Given the description of an element on the screen output the (x, y) to click on. 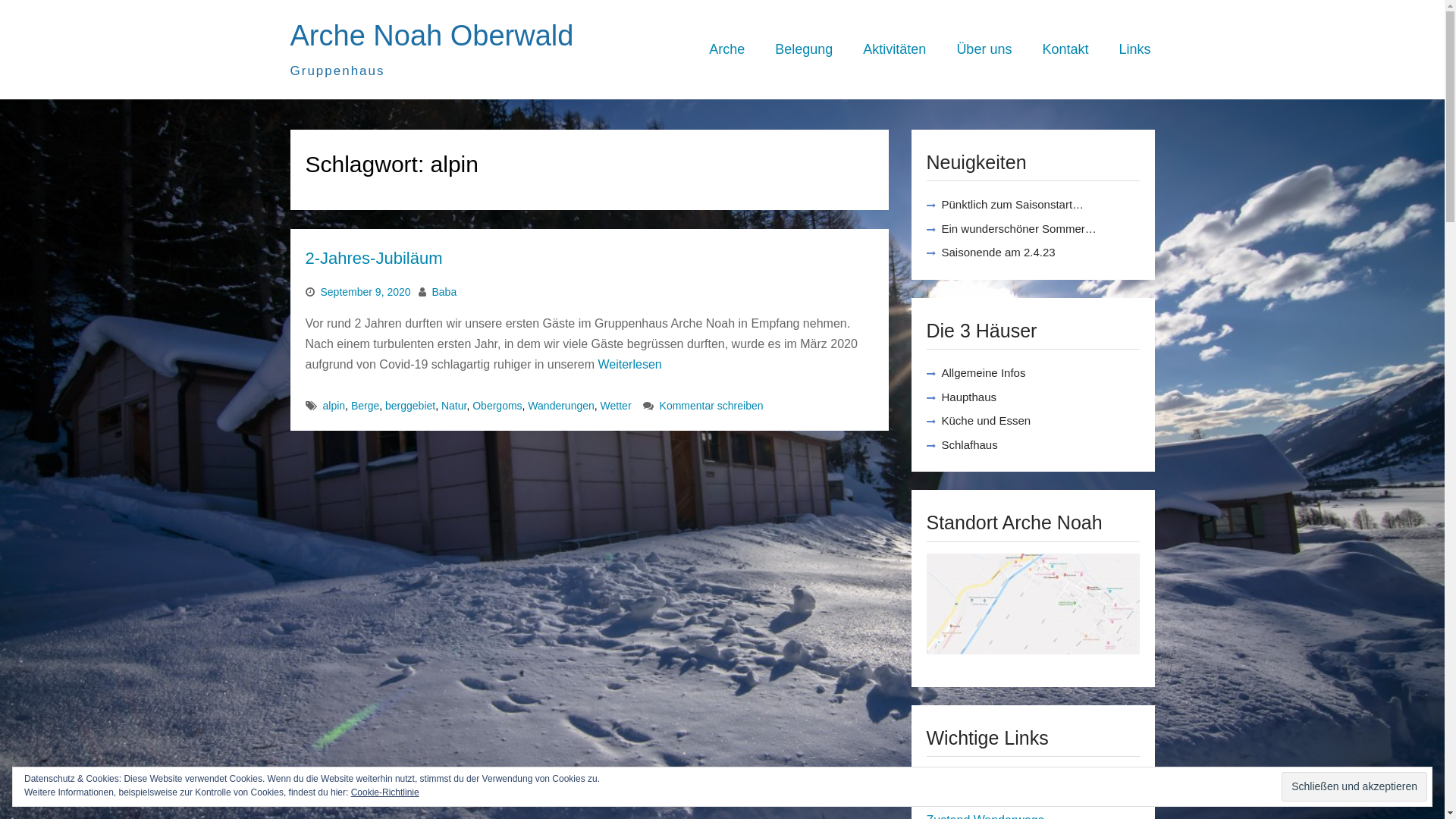
alpin Element type: text (334, 405)
Arche Element type: text (726, 49)
Haupthaus Element type: text (969, 396)
Saisonende am 2.4.23 Element type: text (998, 251)
Autoverlad Furka Realp-Oberwald Element type: text (1018, 777)
Natur Element type: text (453, 405)
Links Element type: text (1134, 49)
Allgemeine Infos Element type: text (983, 372)
Arche Noah Oberwald Element type: text (431, 35)
Weiterlesen Element type: text (629, 363)
Cookie-Richtlinie Element type: text (385, 792)
Obergoms Element type: text (496, 405)
Wanderungen Element type: text (560, 405)
Baba Element type: text (443, 291)
Kontakt Element type: text (1064, 49)
Belegung Element type: text (803, 49)
Wetter Element type: text (615, 405)
berggebiet Element type: text (410, 405)
Schlafhaus Element type: text (969, 444)
September 9, 2020 Element type: text (365, 291)
Berge Element type: text (365, 405)
Verkehr Wallis Element type: text (965, 798)
